Given the description of an element on the screen output the (x, y) to click on. 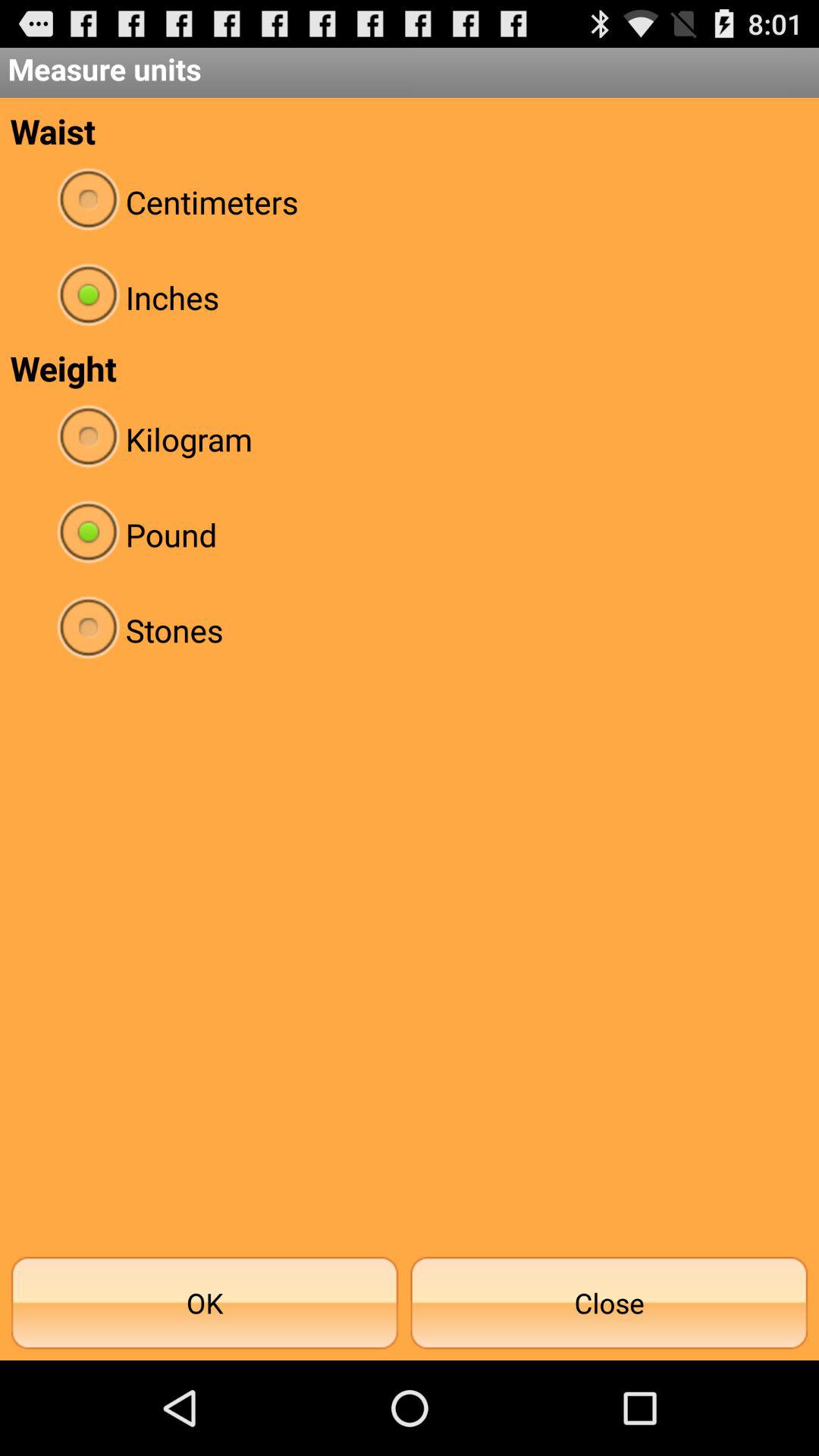
press the radio button below kilogram item (409, 534)
